Given the description of an element on the screen output the (x, y) to click on. 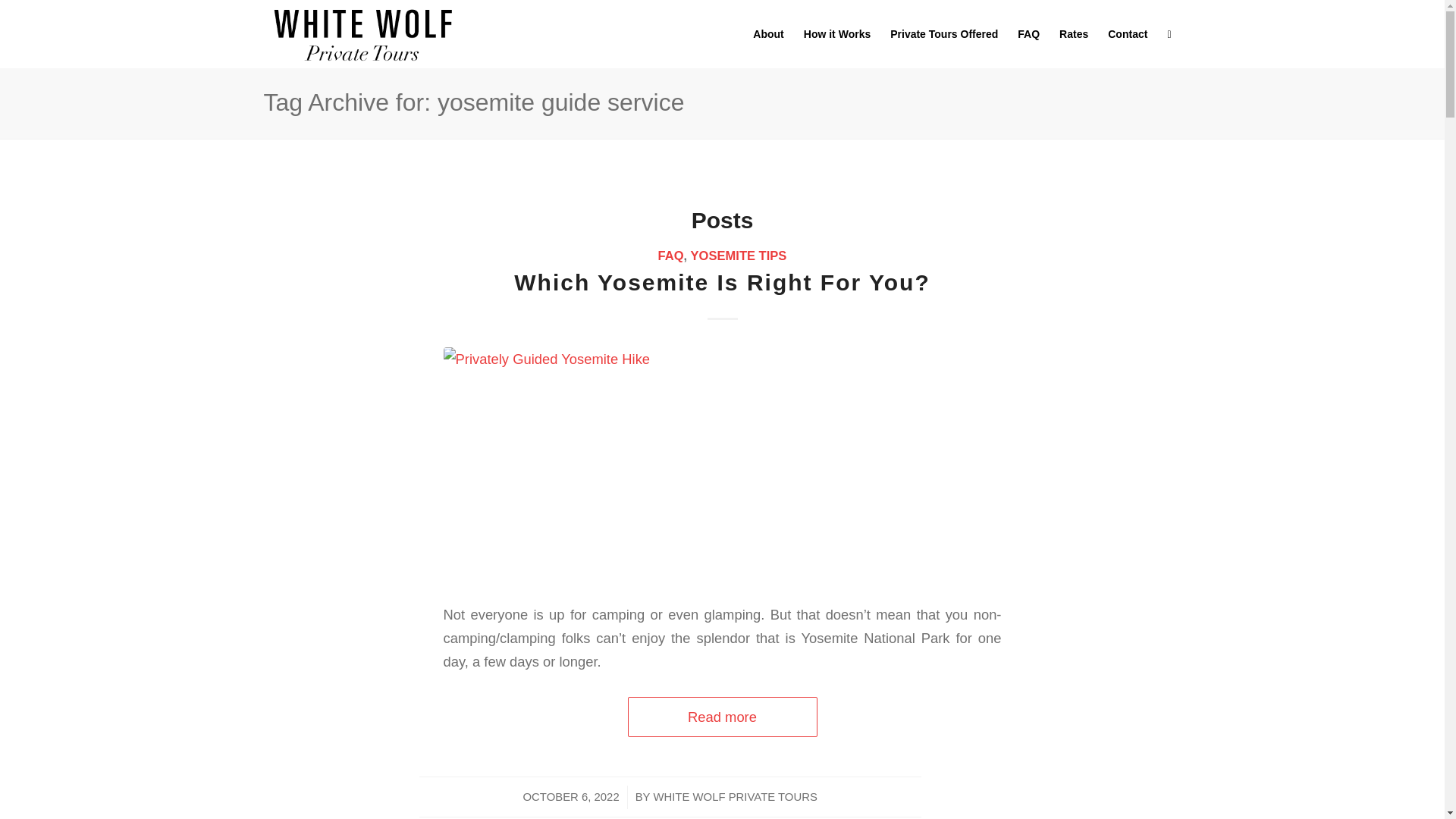
Private Tours Offered (943, 33)
Posts by White Wolf Private Tours (734, 797)
WHITE WOLF PRIVATE TOURS (734, 797)
YOSEMITE TIPS (738, 255)
Tag Archive for: yosemite guide service (473, 102)
Which Yosemite Is Right For You? (721, 282)
Permanent Link: Tag Archive for: yosemite guide service (473, 102)
Read more (721, 716)
FAQ (671, 255)
Permanent Link: Which Yosemite Is Right For You? (721, 282)
How it Works (836, 33)
